Given the description of an element on the screen output the (x, y) to click on. 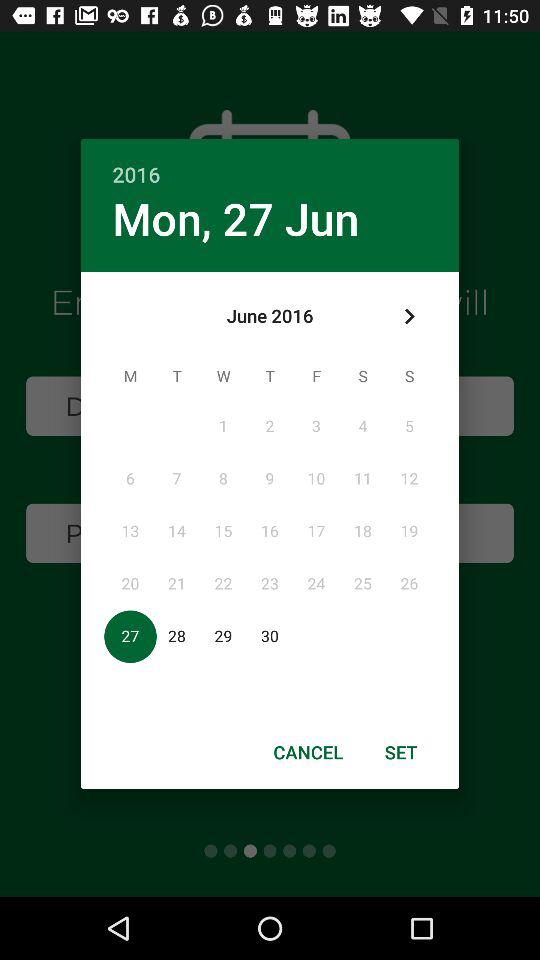
choose the item above mon, 27 jun item (269, 163)
